Given the description of an element on the screen output the (x, y) to click on. 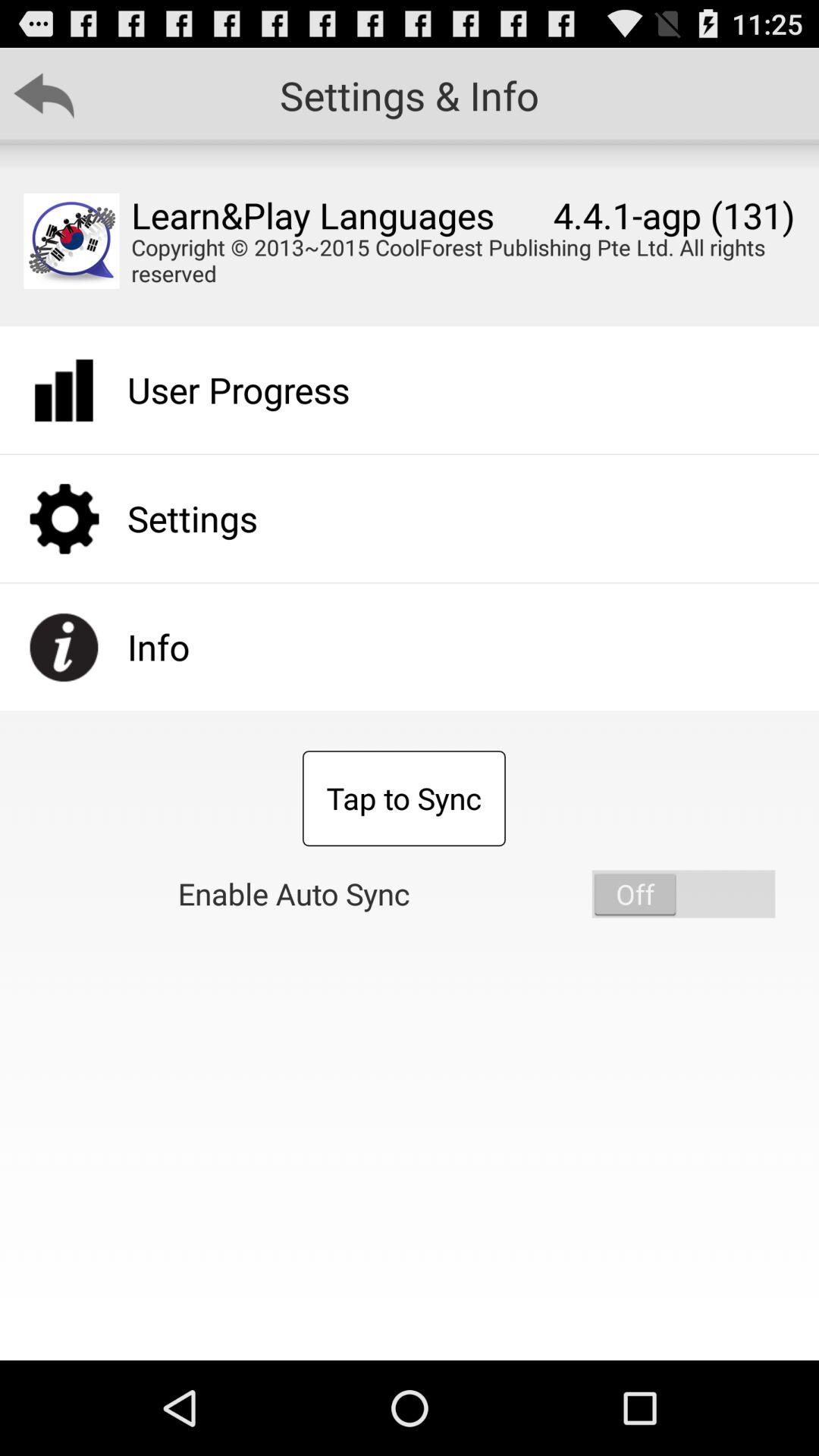
turn on item to the right of enable auto sync (683, 893)
